Given the description of an element on the screen output the (x, y) to click on. 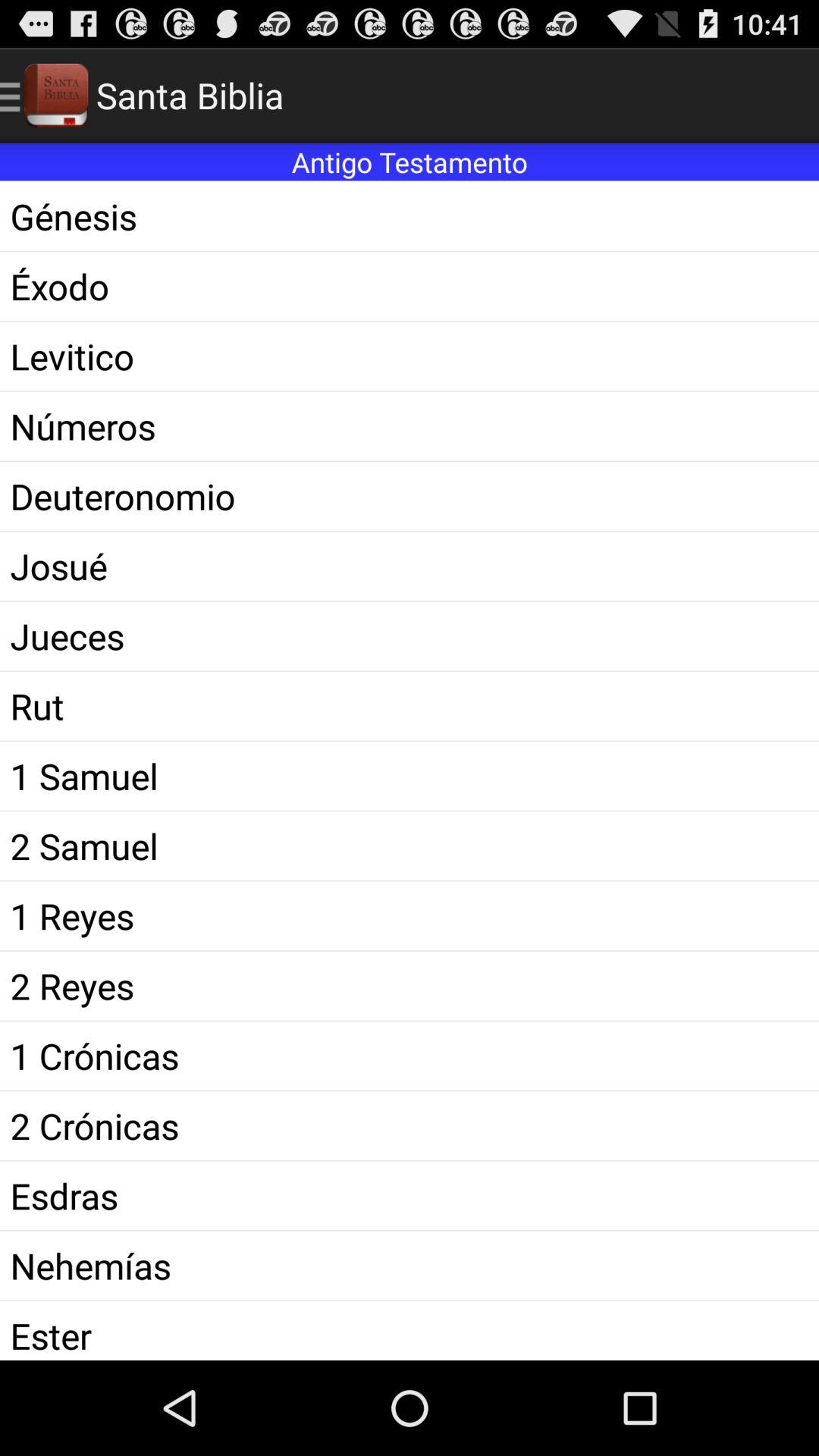
select the ester app (409, 1330)
